Given the description of an element on the screen output the (x, y) to click on. 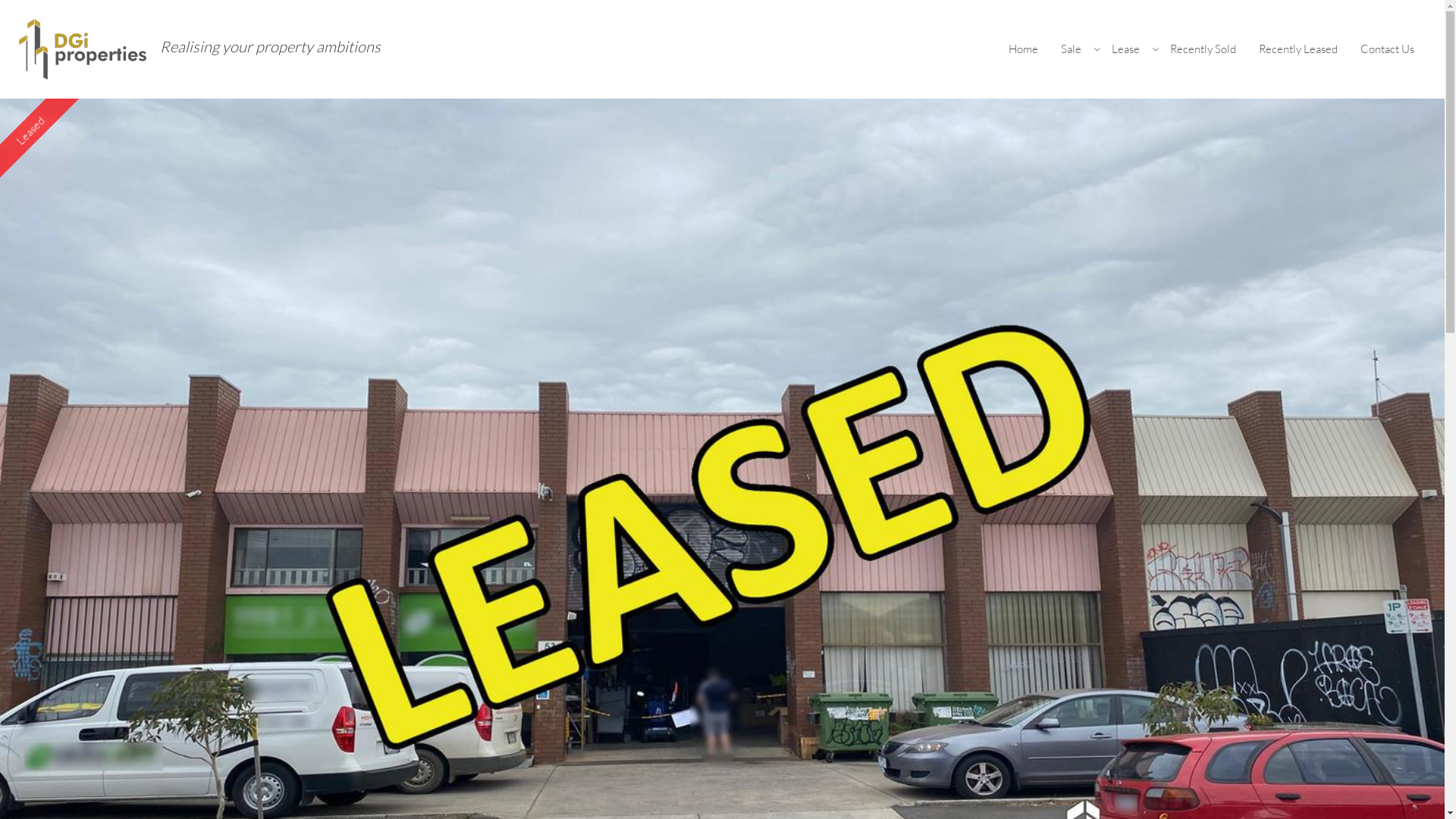
Recently Leased Element type: text (1298, 48)
DGi Properties Element type: hover (83, 47)
Recently Sold Element type: text (1202, 48)
Lease Element type: text (1129, 48)
Sale Element type: text (1074, 48)
Contact Us Element type: text (1387, 48)
Home Element type: text (1023, 48)
